Given the description of an element on the screen output the (x, y) to click on. 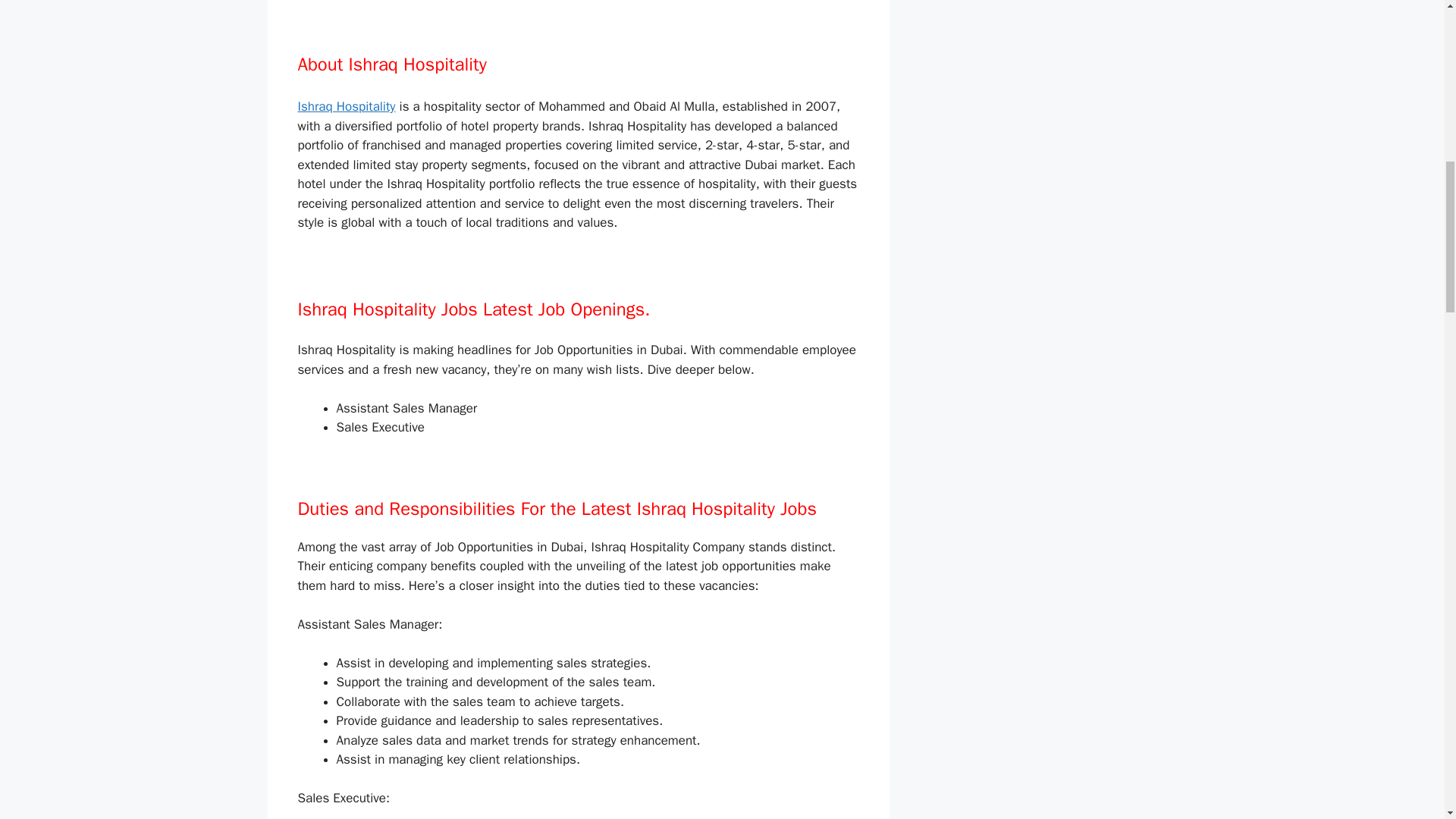
Ishraq Hospitality (345, 106)
